Given the description of an element on the screen output the (x, y) to click on. 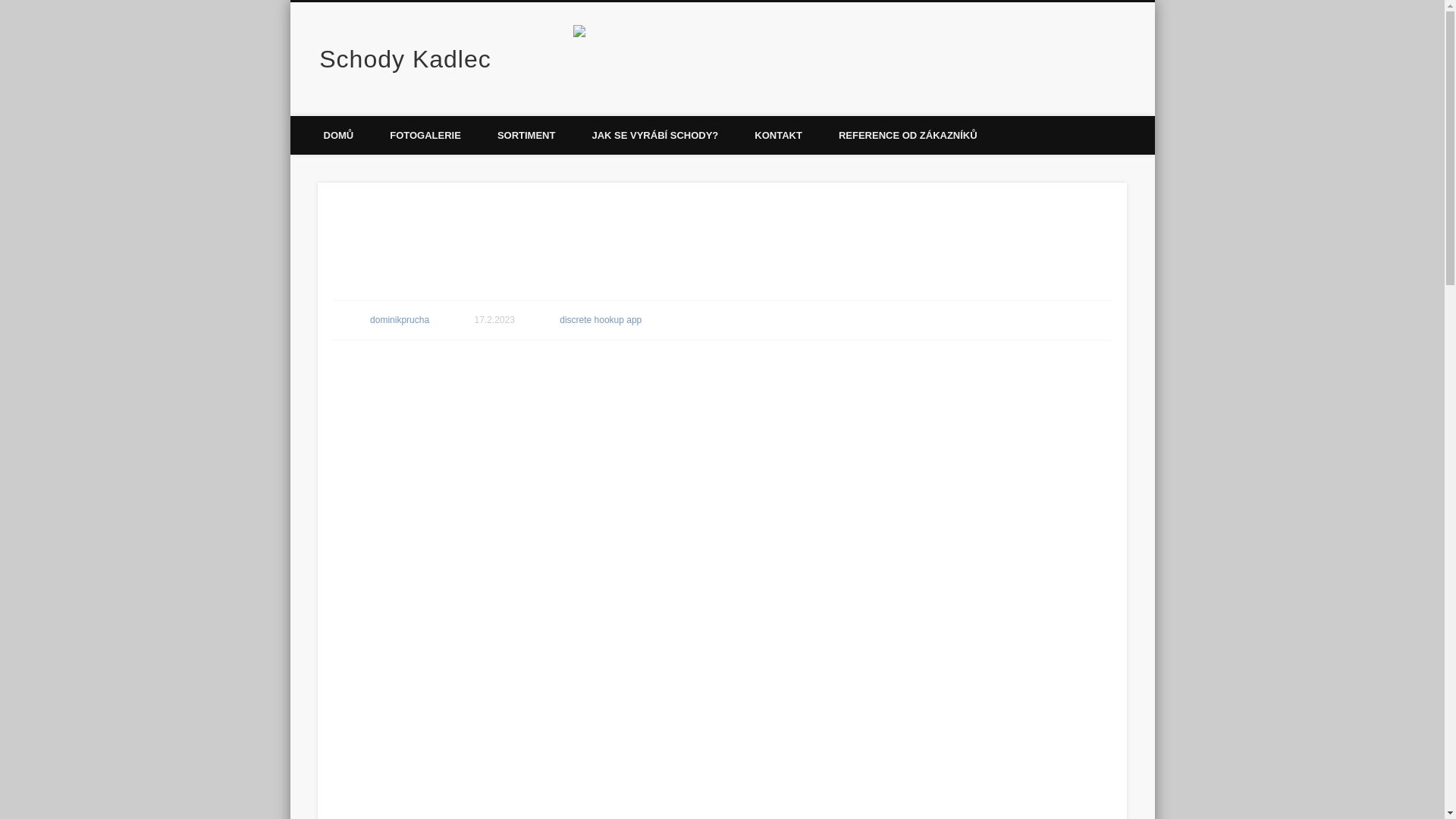
KONTAKT (778, 135)
Schody Kadlec (404, 58)
dominikprucha (399, 319)
FOTOGALERIE (425, 135)
discrete hookup app (600, 319)
SORTIMENT (526, 135)
